Given the description of an element on the screen output the (x, y) to click on. 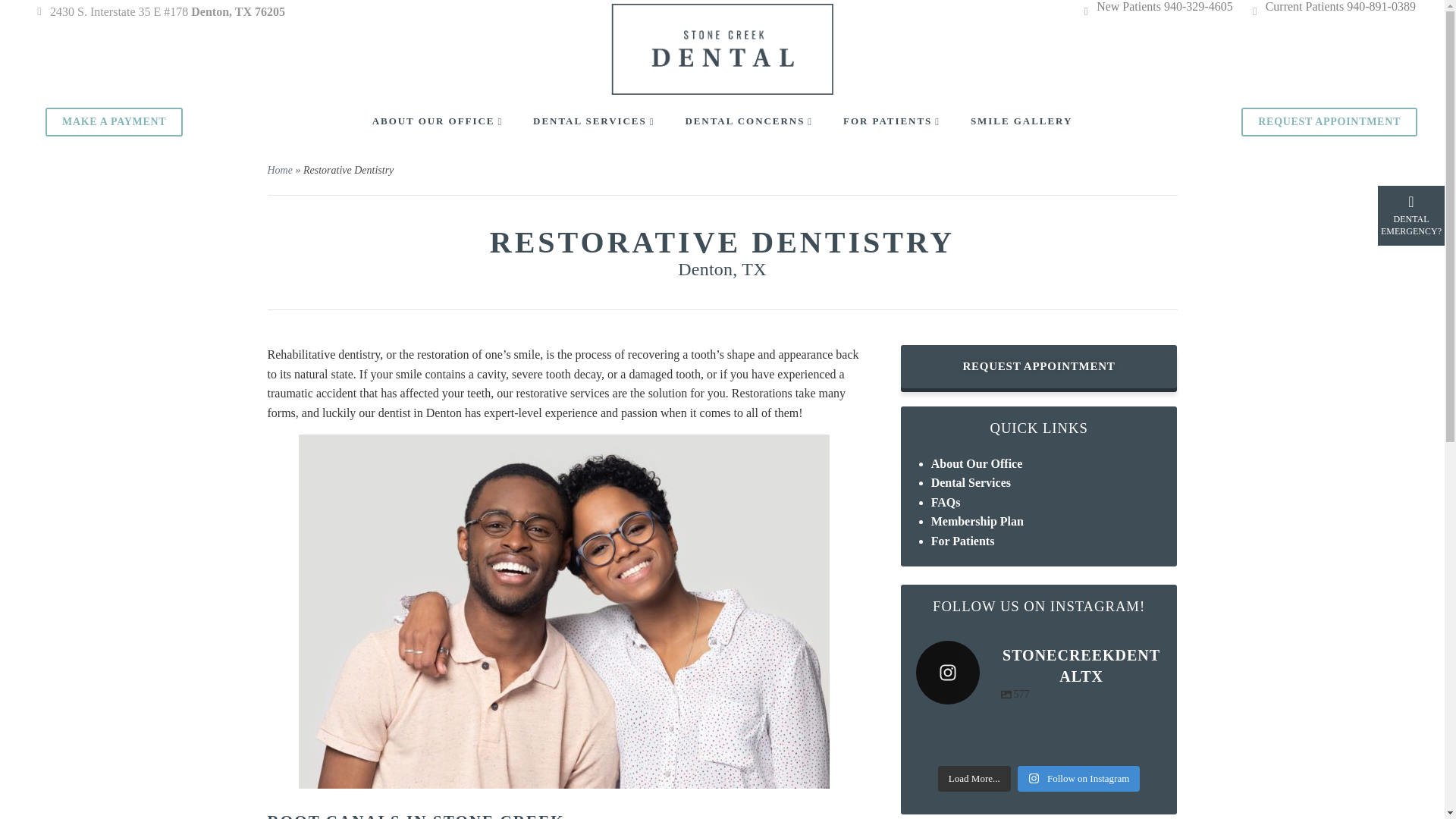
New Patients 940-329-4605 (1164, 6)
ABOUT OUR OFFICE (437, 120)
DENTAL SERVICES (592, 120)
MAKE A PAYMENT (114, 121)
FOR PATIENTS (891, 120)
Current Patients 940-891-0389 (1340, 6)
DENTAL CONCERNS (748, 120)
